Given the description of an element on the screen output the (x, y) to click on. 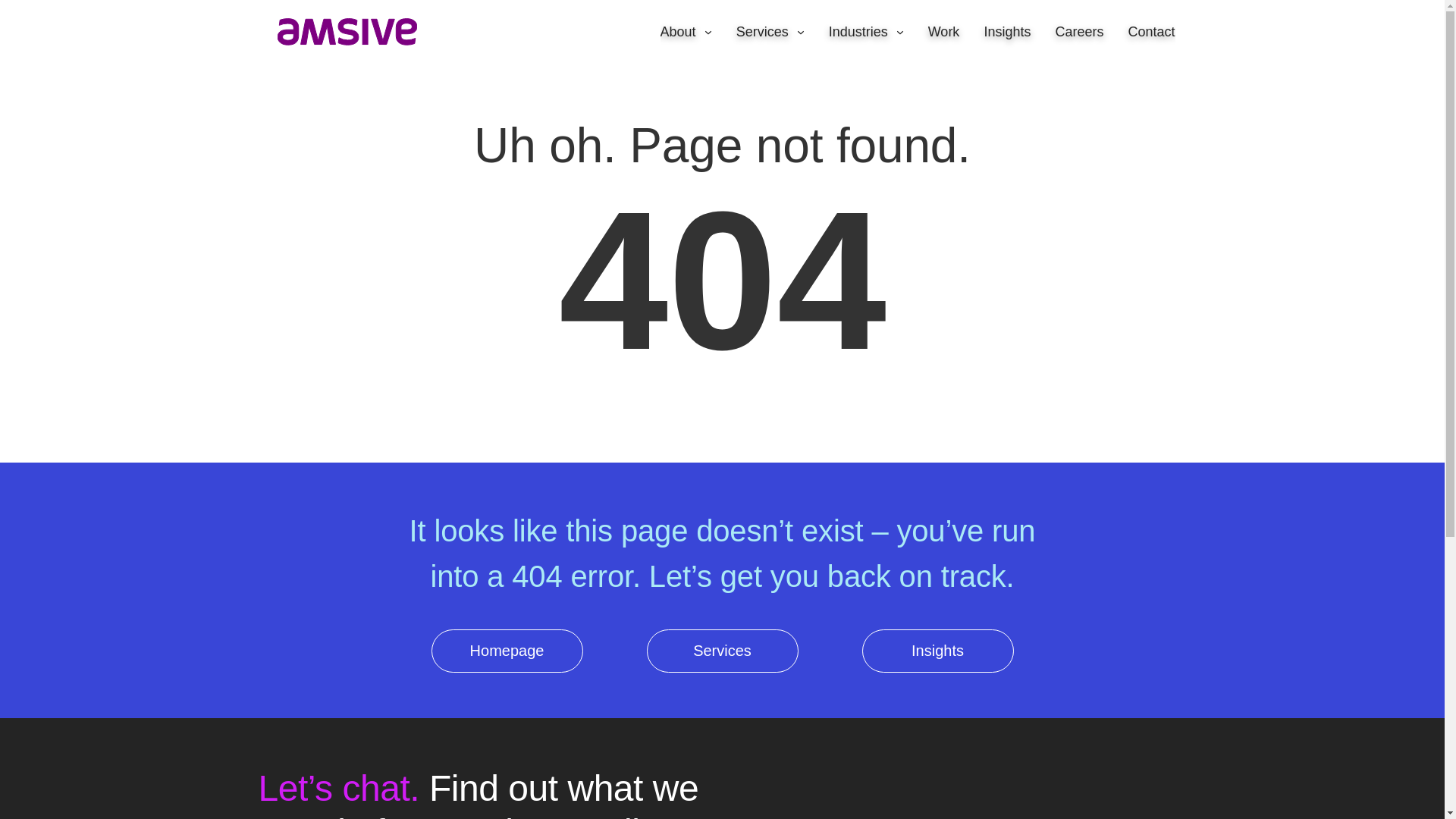
Industries (866, 31)
Services (770, 31)
Homepage (339, 31)
